Given the description of an element on the screen output the (x, y) to click on. 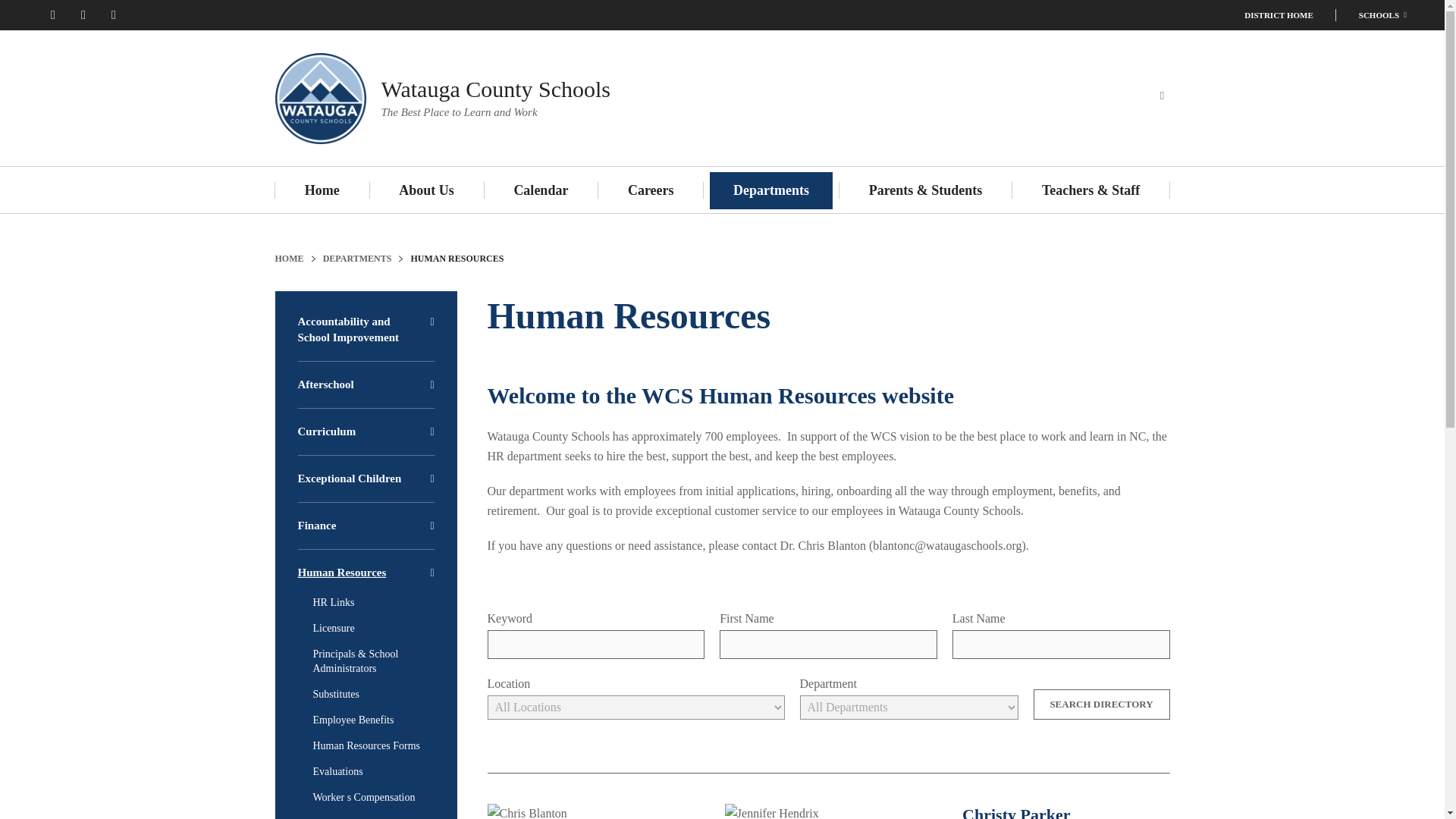
Search Directory (1100, 704)
